Given the description of an element on the screen output the (x, y) to click on. 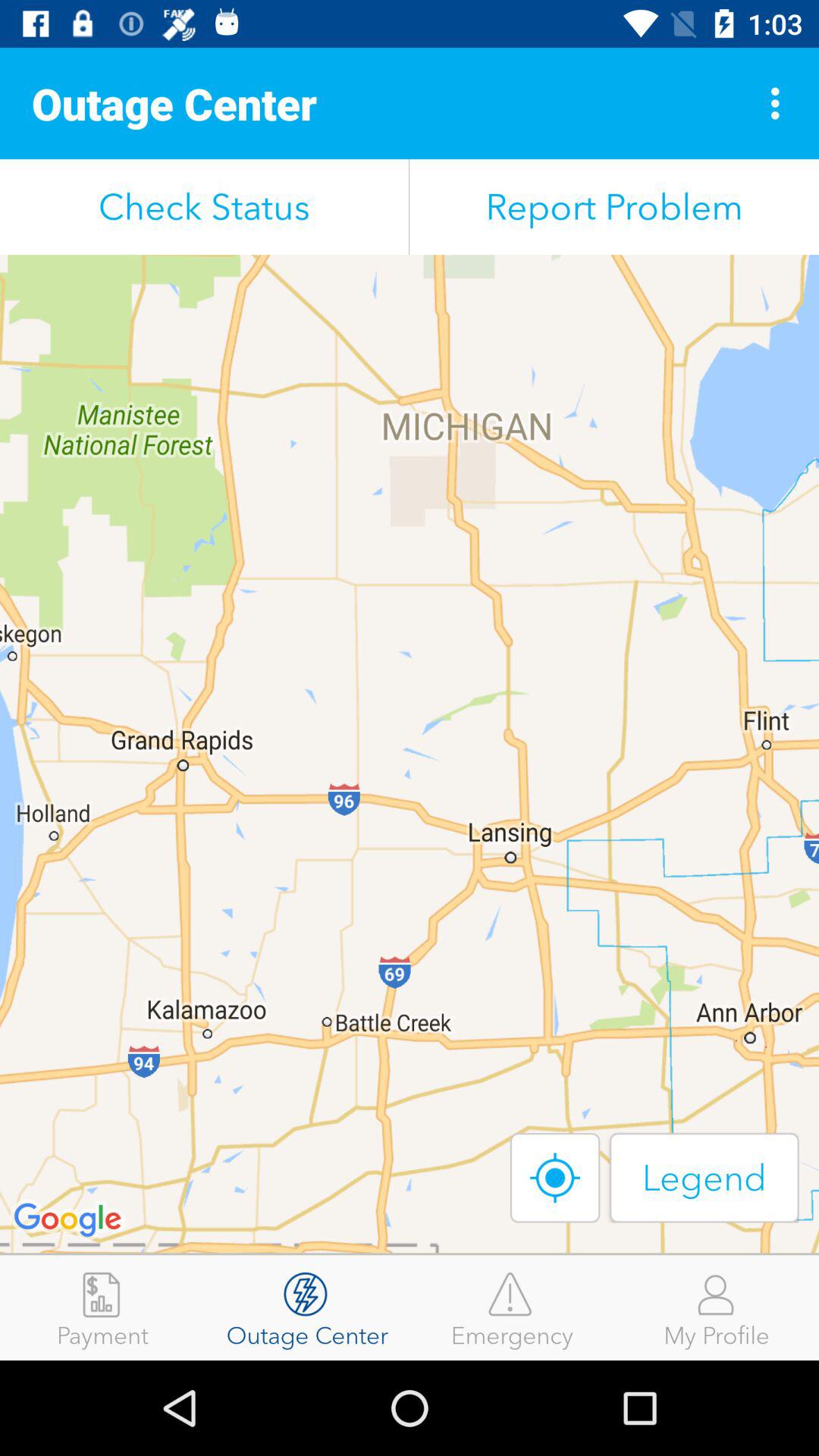
press report problem item (614, 206)
